Given the description of an element on the screen output the (x, y) to click on. 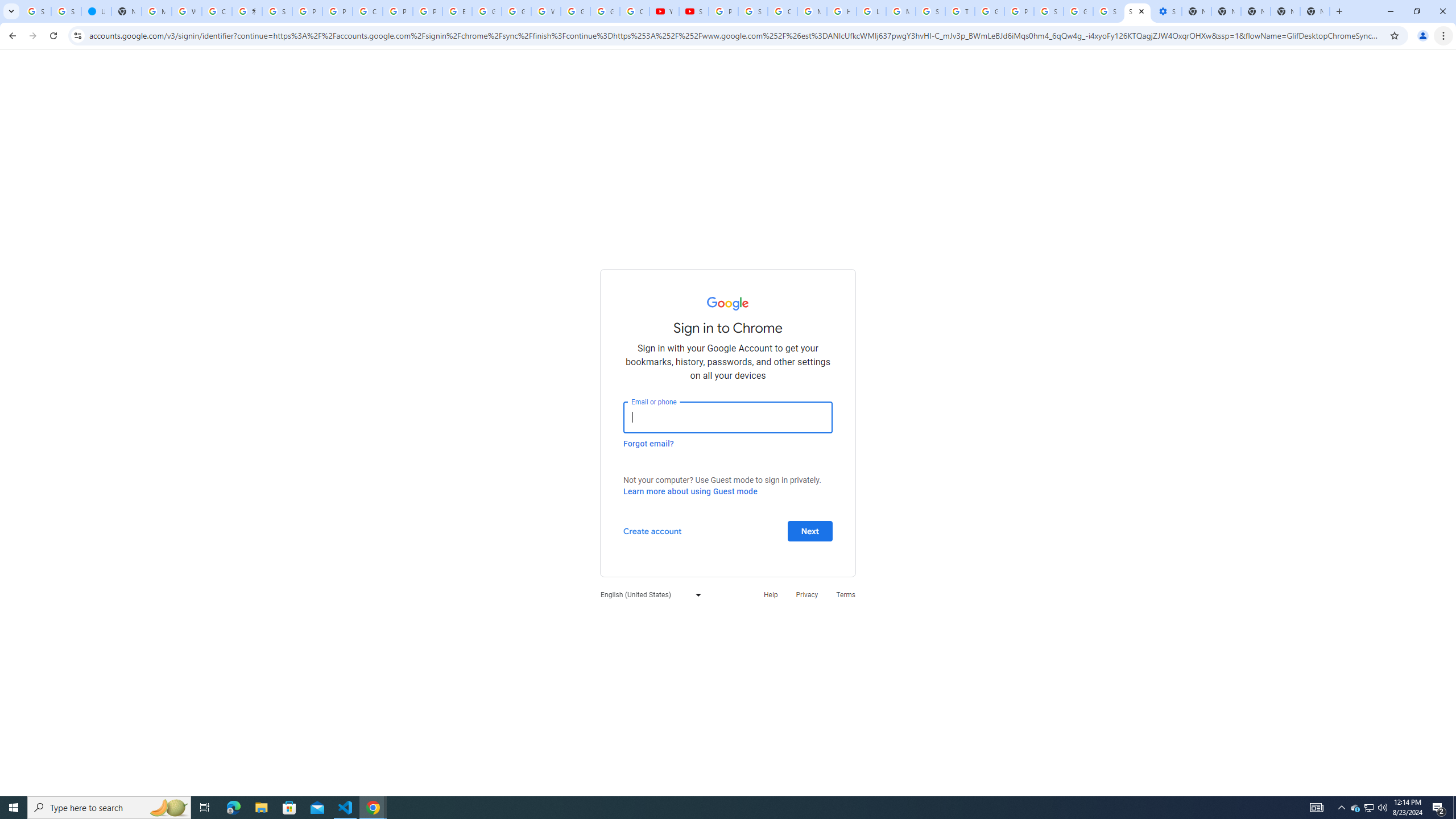
Sign in - Google Accounts (1107, 11)
Email or phone (727, 417)
USA TODAY (95, 11)
Trusted Information and Content - Google Safety Center (959, 11)
Create account (651, 530)
Google Slides: Sign-in (486, 11)
